Given the description of an element on the screen output the (x, y) to click on. 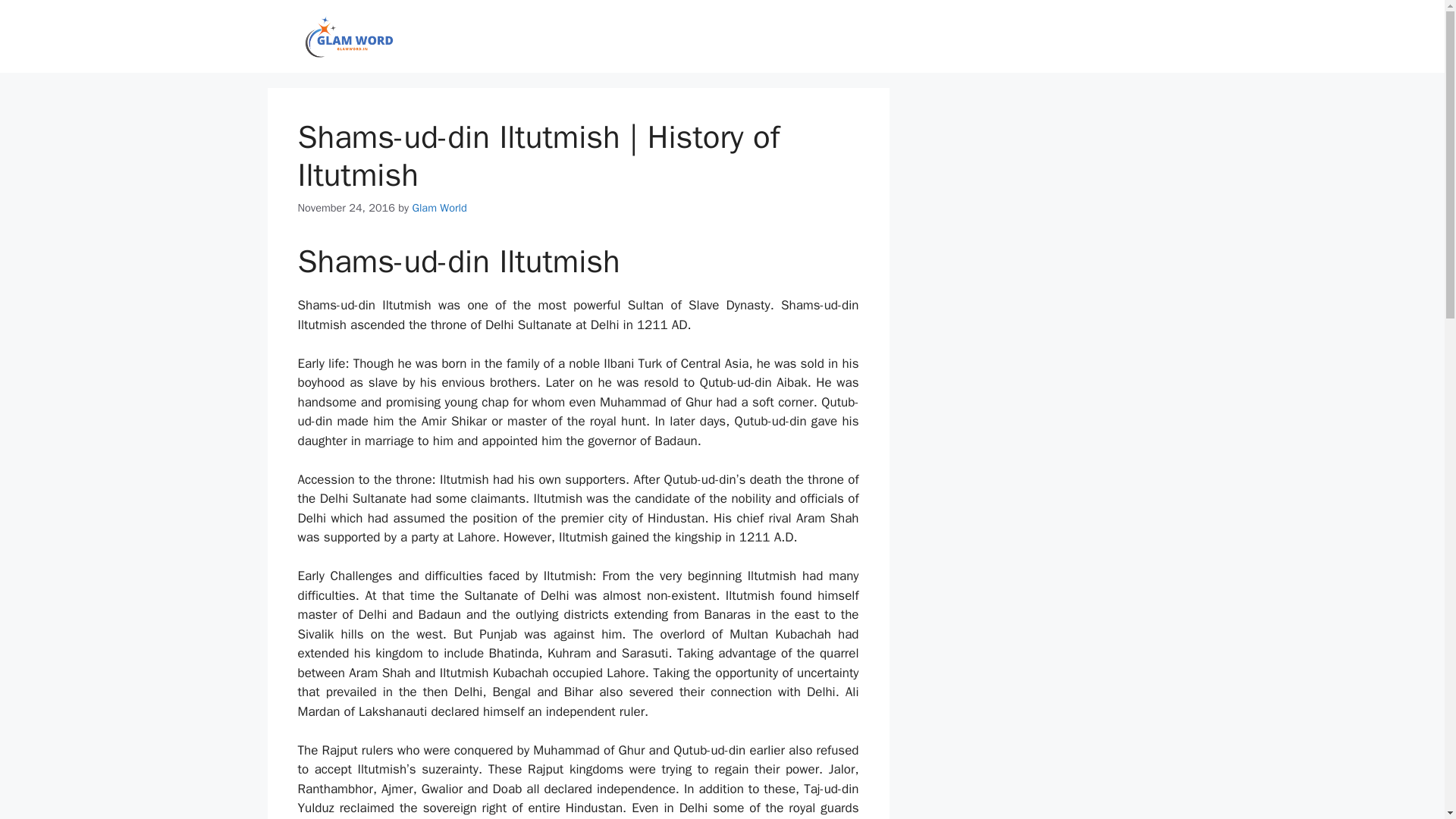
View all posts by Glam World (438, 207)
Glam World (438, 207)
